Given the description of an element on the screen output the (x, y) to click on. 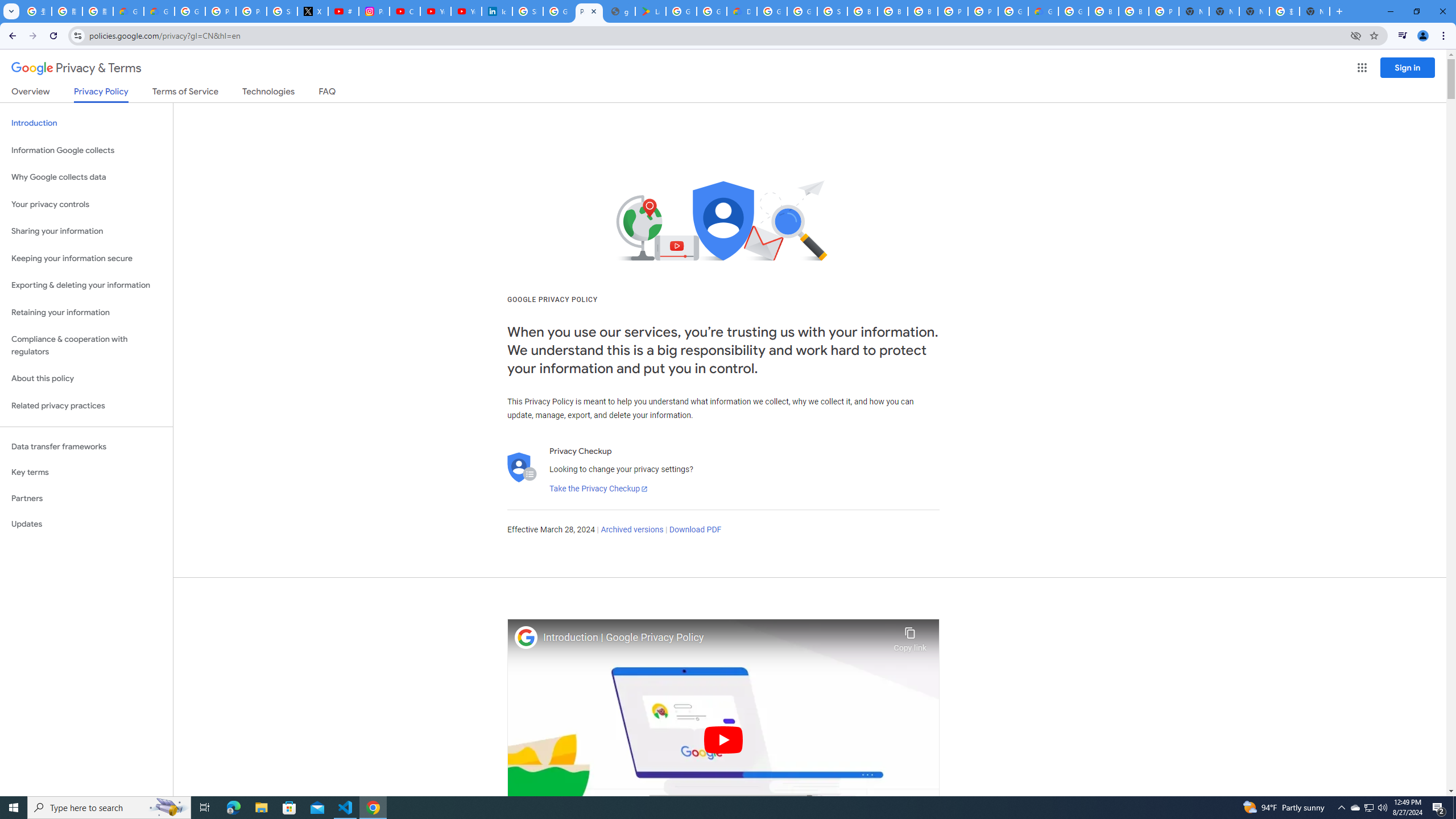
Download PDF (695, 529)
Your privacy controls (86, 204)
Google Cloud Privacy Notice (158, 11)
Google Cloud Platform (1072, 11)
Browse Chrome as a guest - Computer - Google Chrome Help (862, 11)
